Given the description of an element on the screen output the (x, y) to click on. 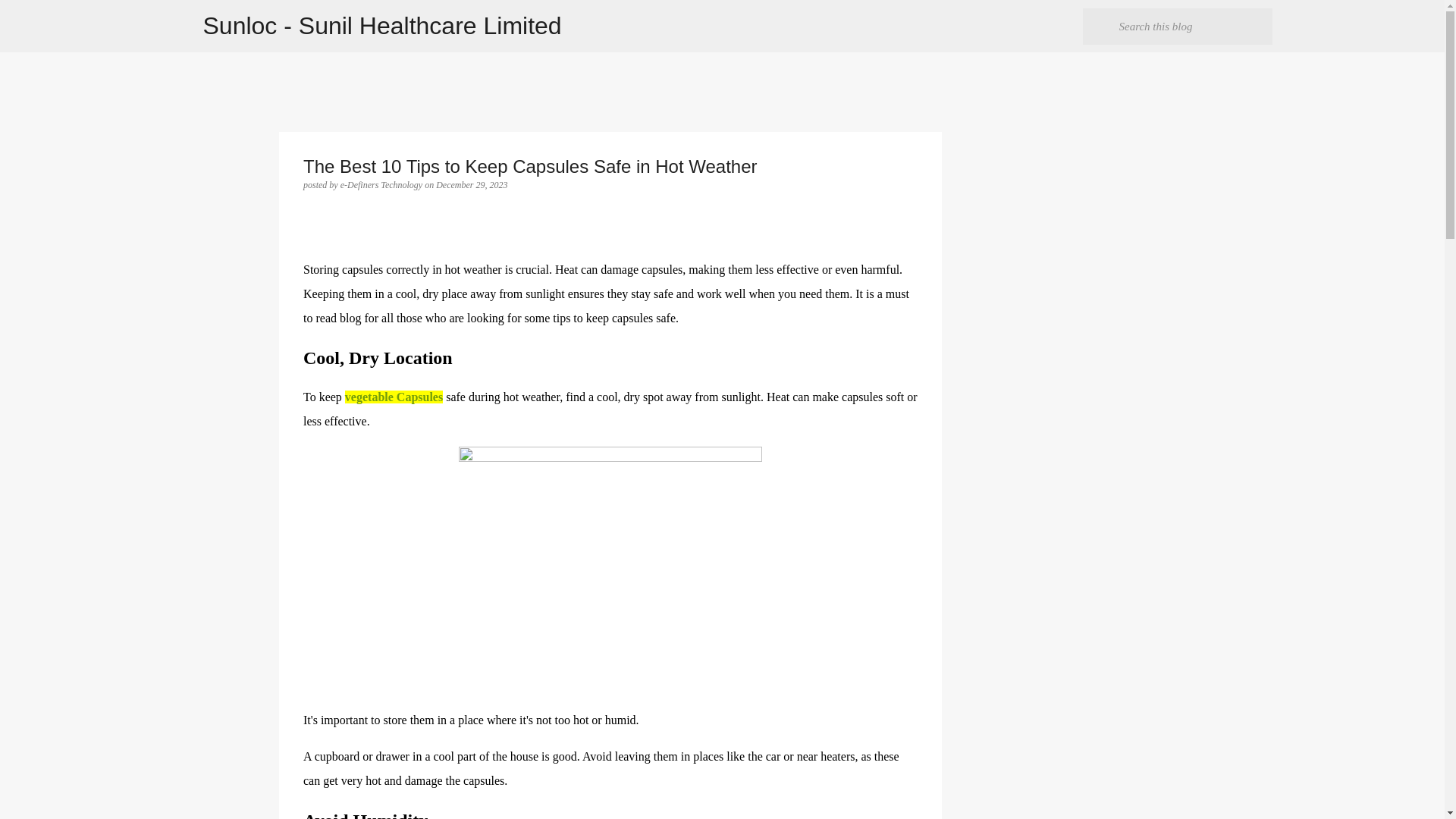
December 29, 2023 (470, 184)
e-Definers Technology (382, 184)
vegetable Capsules (393, 396)
permanent link (470, 184)
author profile (382, 184)
Sunloc - Sunil Healthcare Limited (382, 25)
